Given the description of an element on the screen output the (x, y) to click on. 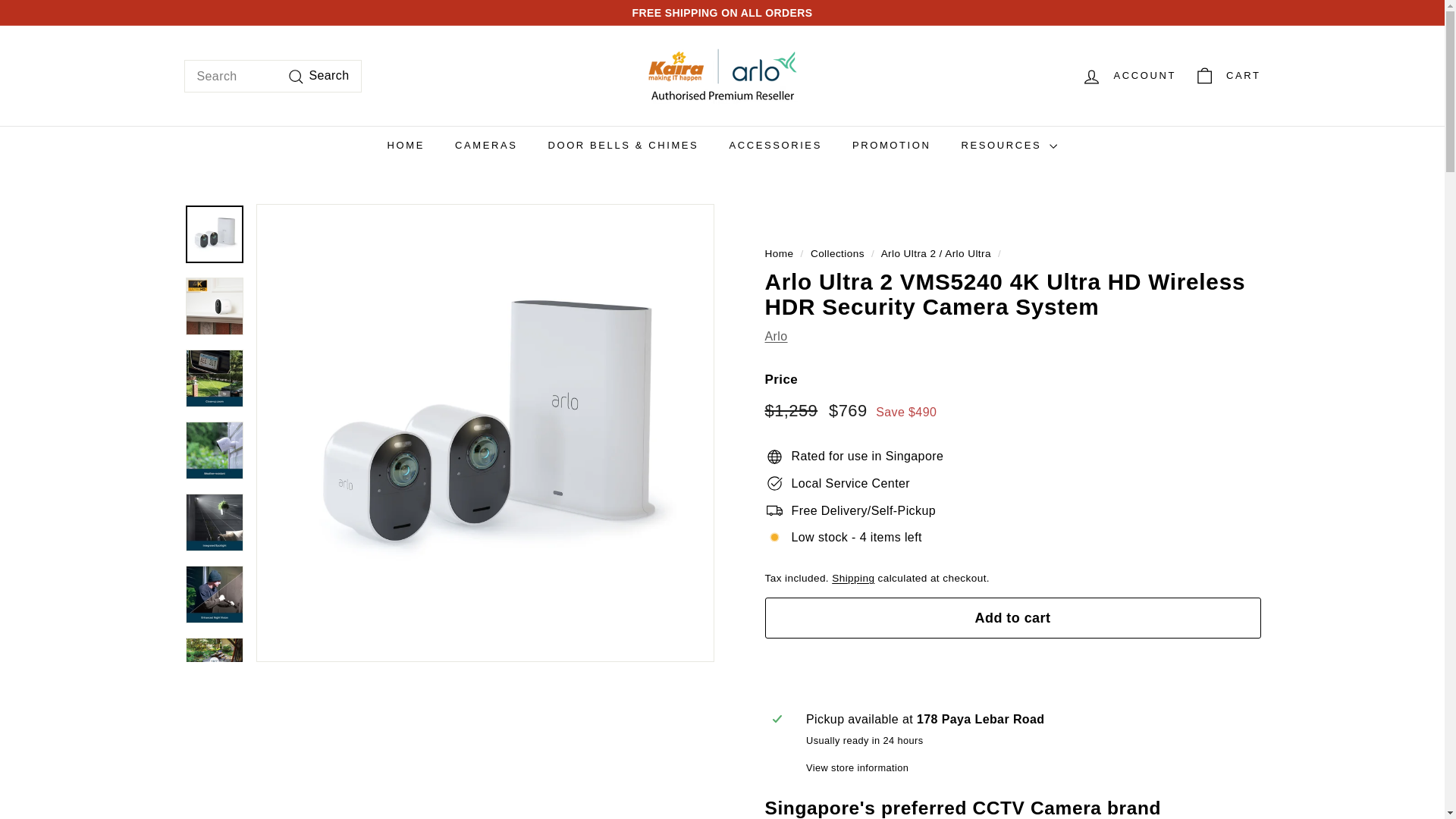
Back to the frontpage (778, 253)
PROMOTION (891, 146)
CART (1227, 76)
ACCESSORIES (775, 146)
HOME (405, 146)
Arlo (775, 336)
ACCOUNT (1128, 76)
CAMERAS (485, 146)
